Given the description of an element on the screen output the (x, y) to click on. 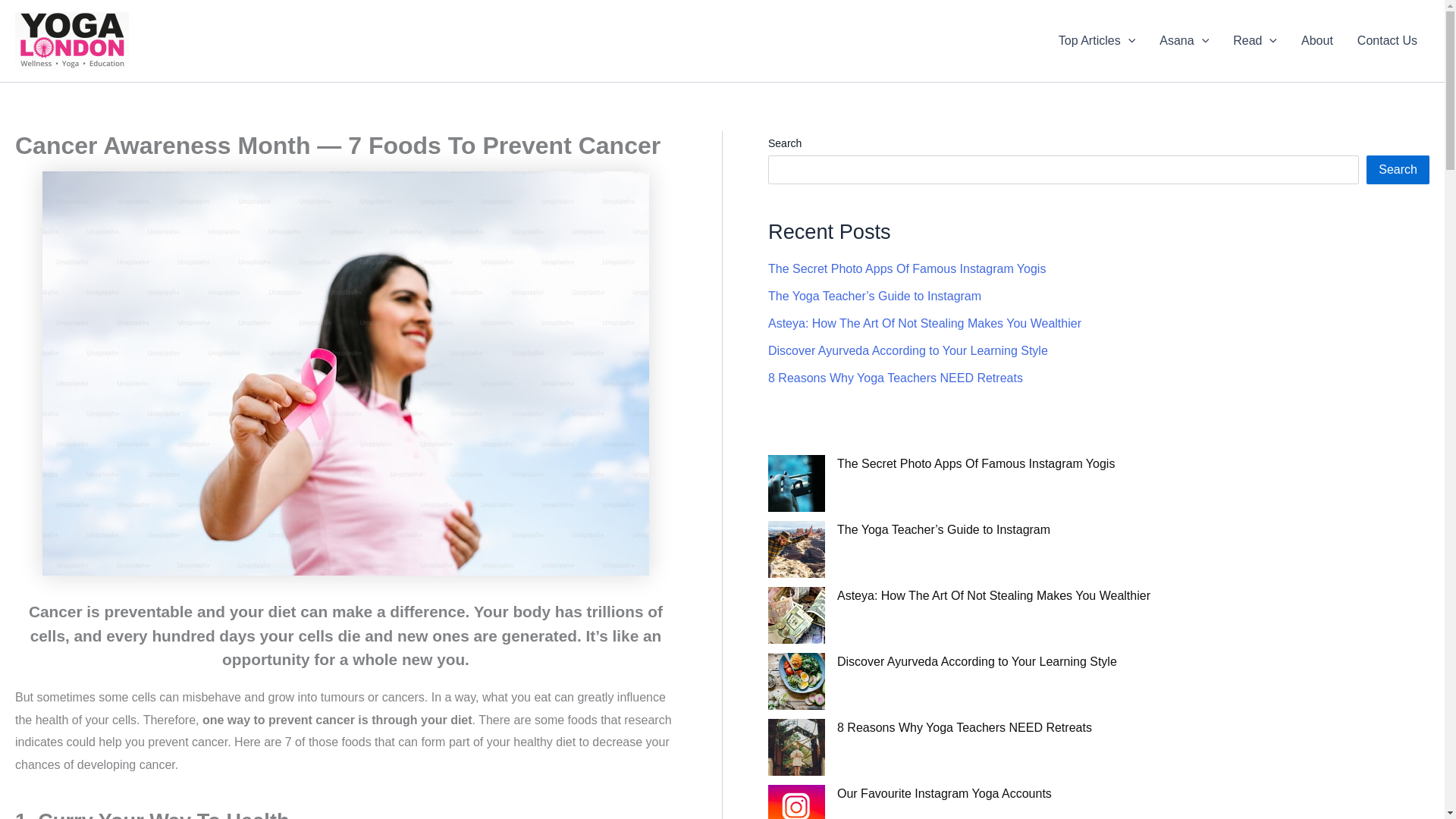
Asana (1184, 40)
About (1316, 40)
Top Articles (1096, 40)
Read (1254, 40)
Contact Us (1387, 40)
